Given the description of an element on the screen output the (x, y) to click on. 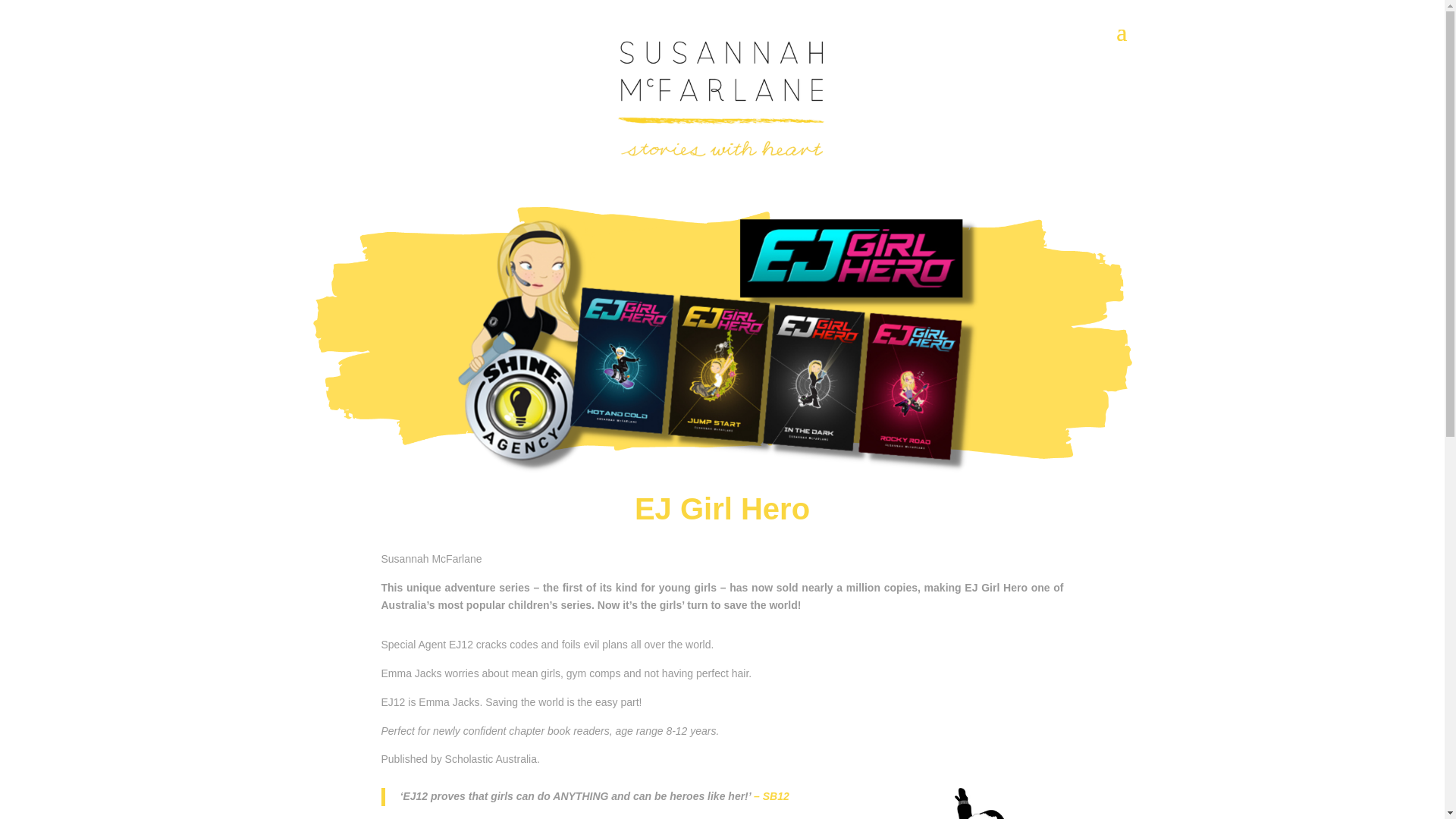
ejgh (994, 803)
